Given the description of an element on the screen output the (x, y) to click on. 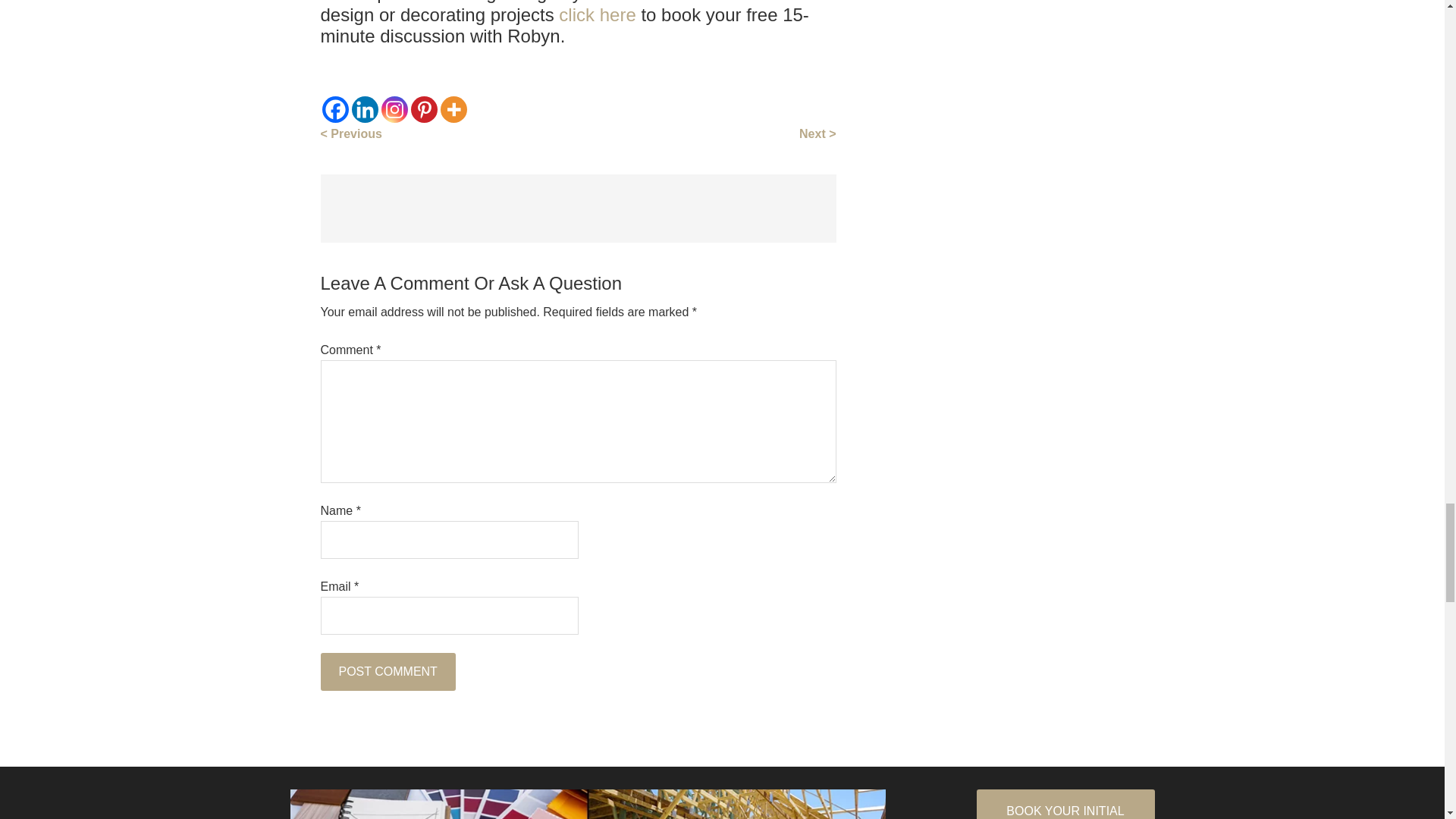
More (452, 109)
Post Comment (387, 671)
Facebook (334, 109)
Pinterest (424, 109)
Instagram (393, 109)
click here (596, 14)
Linkedin (365, 109)
